Given the description of an element on the screen output the (x, y) to click on. 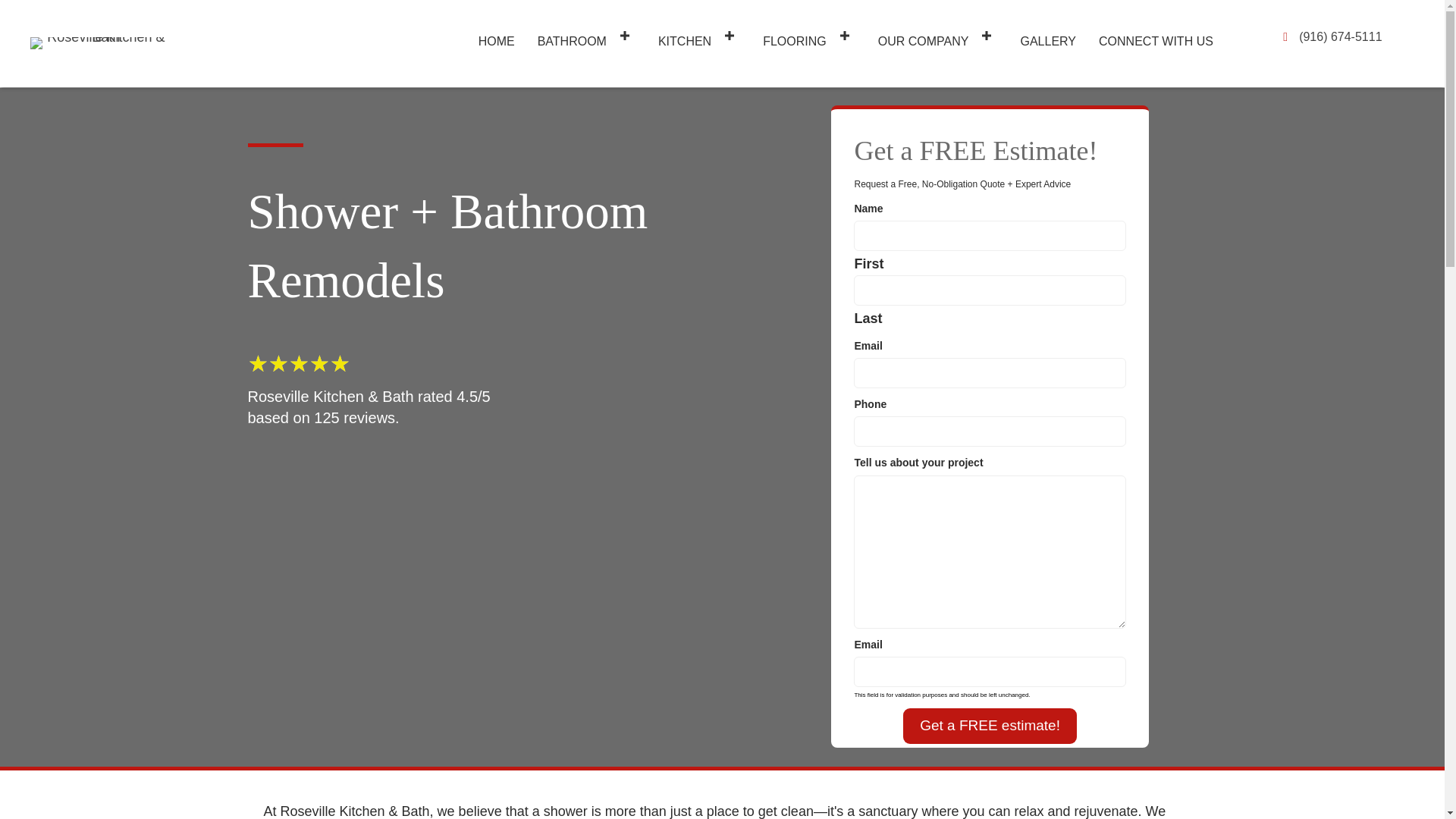
FLOORING (809, 35)
GALLERY (1048, 35)
KITCHEN (699, 35)
Get a FREE estimate! (989, 725)
CONNECT WITH US (1155, 35)
OUR COMPANY (938, 35)
BATHROOM (586, 35)
